Given the description of an element on the screen output the (x, y) to click on. 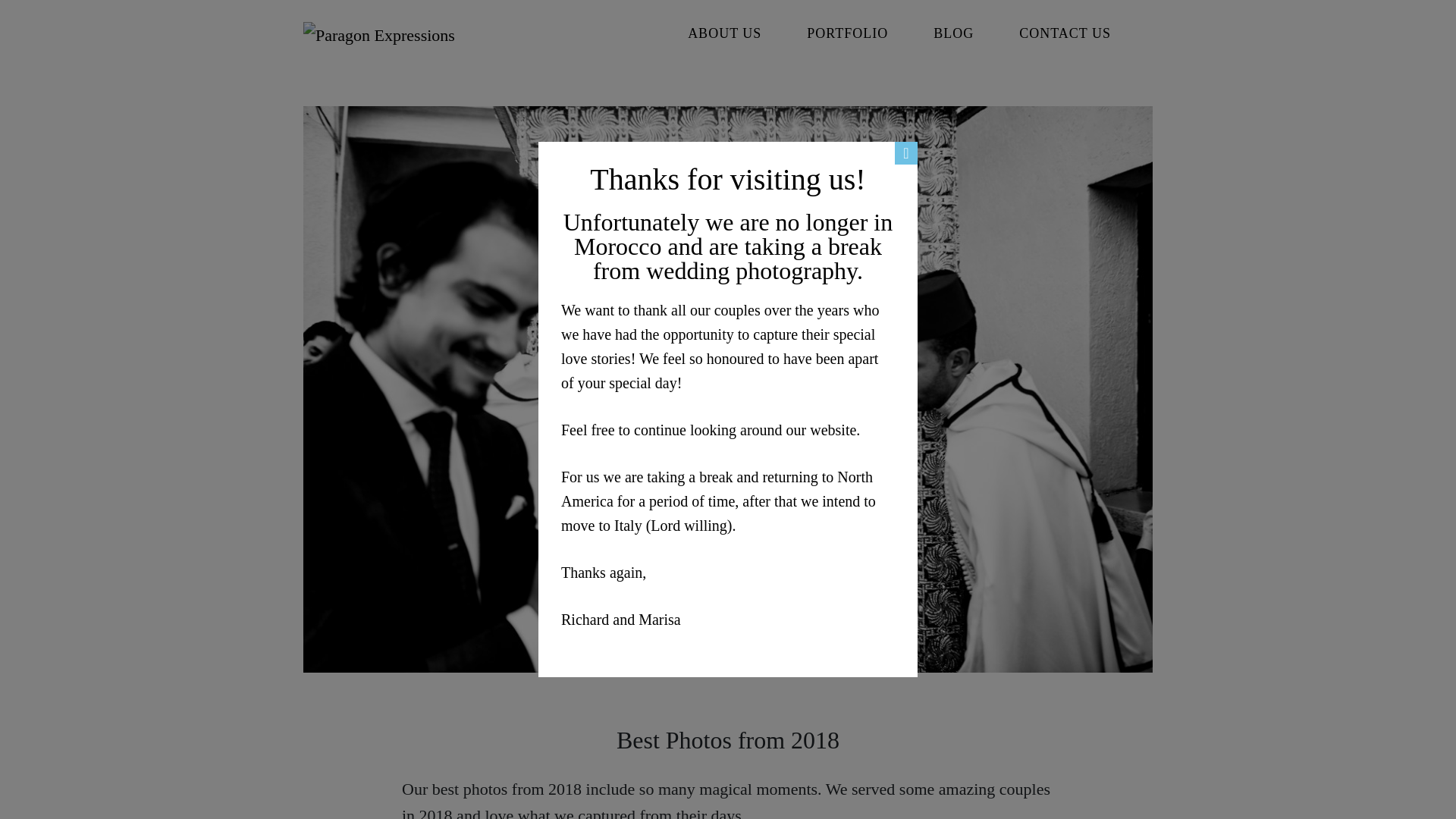
PORTFOLIO (847, 33)
ABOUT US (724, 33)
CONTACT US (1064, 33)
BLOG (953, 33)
